Given the description of an element on the screen output the (x, y) to click on. 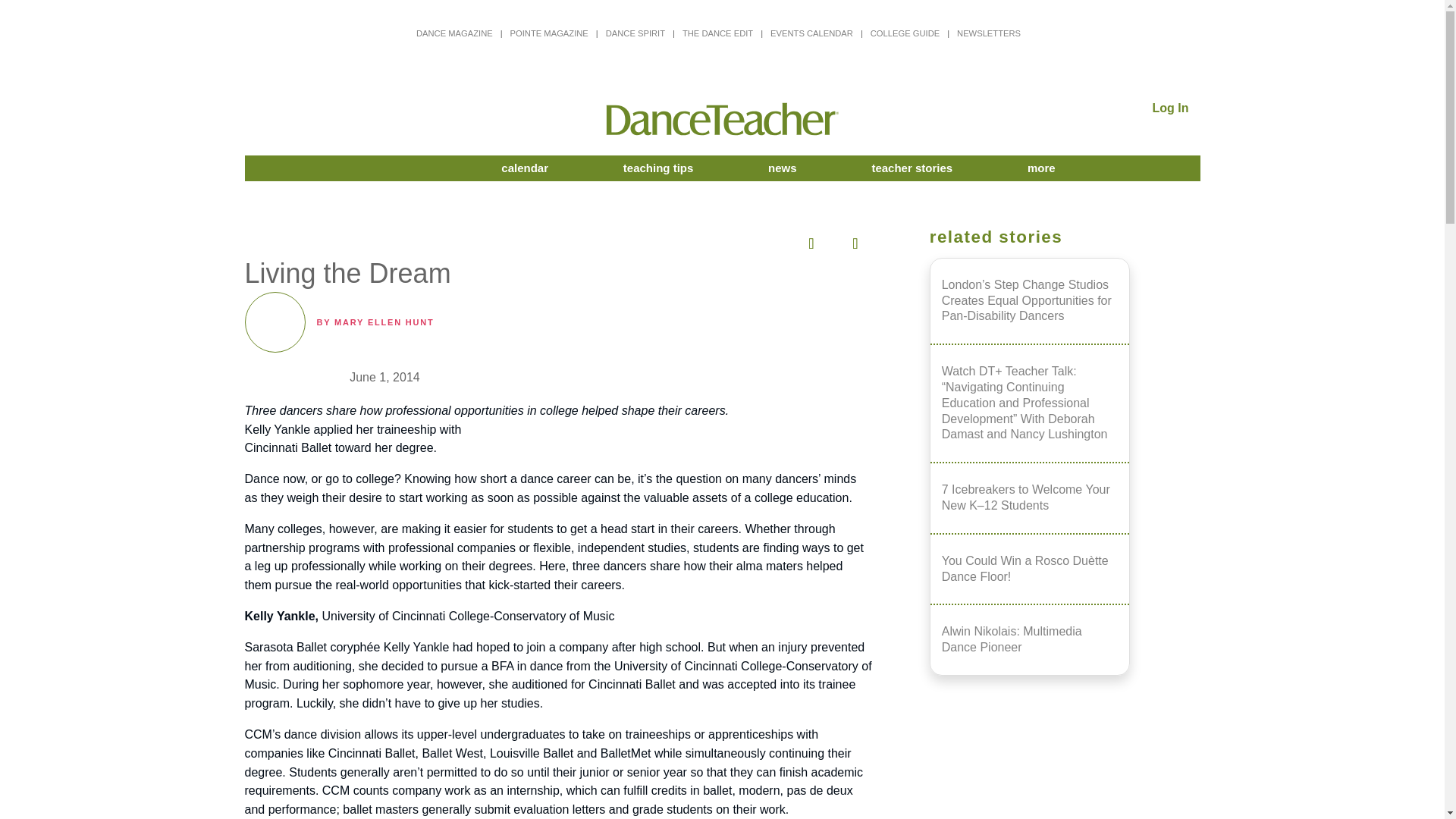
NEWSLETTERS (988, 32)
DANCE SPIRIT (635, 32)
teacher stories (911, 167)
news (782, 167)
COLLEGE GUIDE (904, 32)
Follow on  (809, 239)
Follow on Pinterest (720, 239)
Follow on  (853, 239)
Members (369, 167)
teaching tips (658, 167)
